Given the description of an element on the screen output the (x, y) to click on. 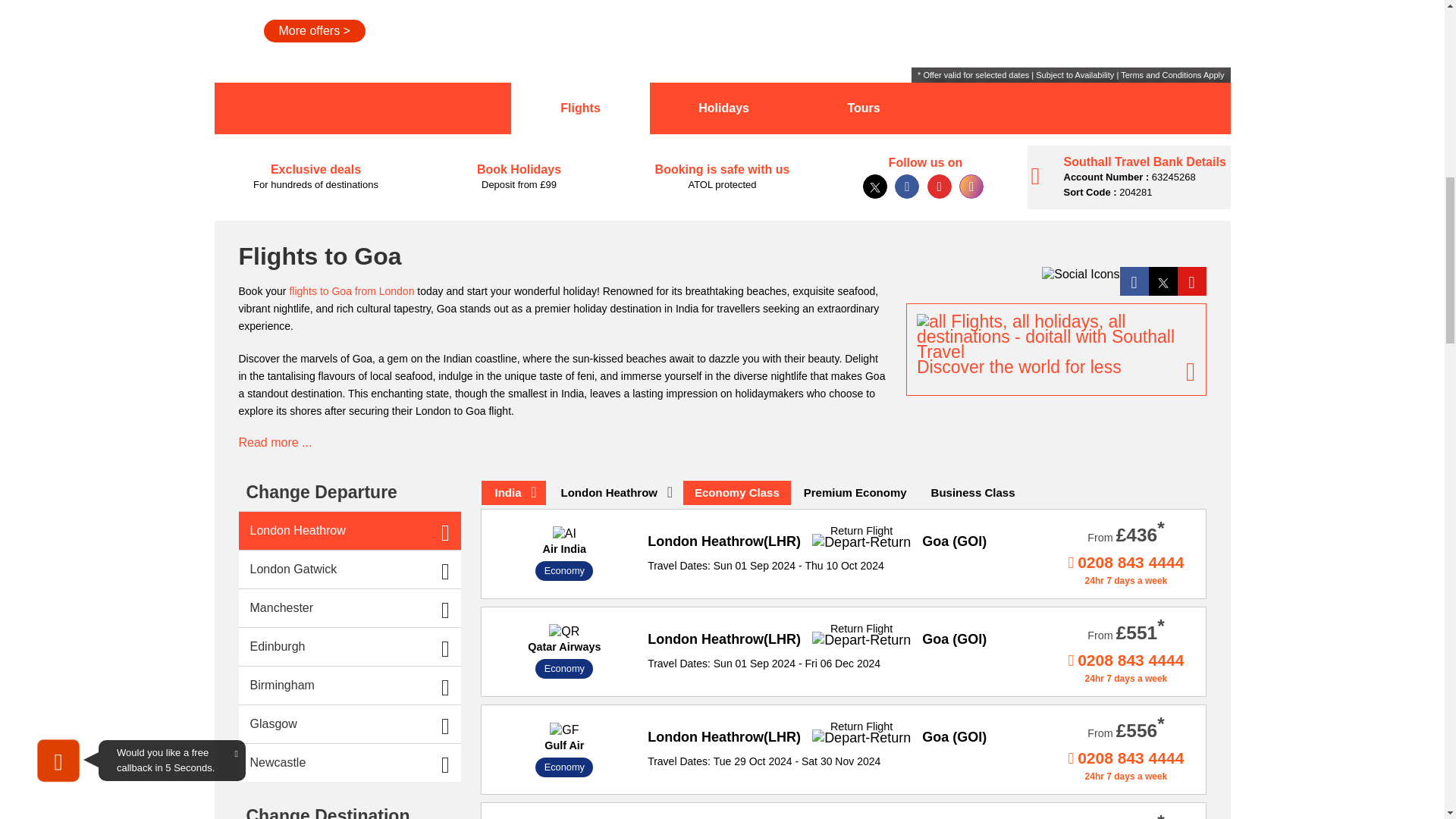
instagram (973, 186)
facebook (909, 186)
flights to india (512, 492)
twitter (877, 186)
pinterest (941, 186)
